Given the description of an element on the screen output the (x, y) to click on. 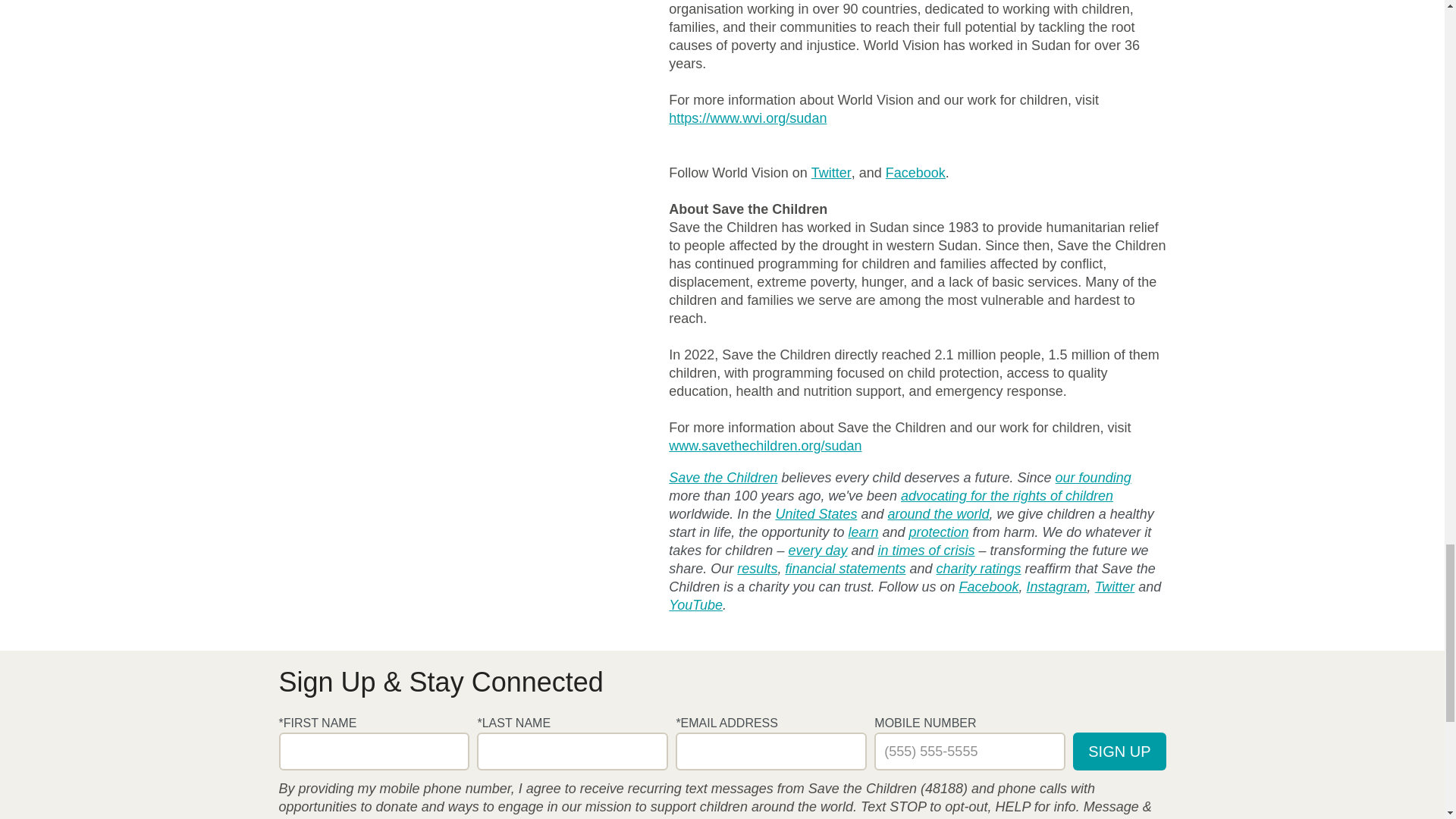
Results For Children (756, 568)
What We Do (817, 550)
Protection (938, 532)
Emergency Response and Humanitarian Crises (925, 550)
Where We Work (937, 514)
Education (862, 532)
Advocate for Children (1007, 495)
Charity Ratings (979, 568)
Help Save Children in America (815, 514)
Eglantyne Jebb (1093, 477)
Sign Up (1119, 751)
